Given the description of an element on the screen output the (x, y) to click on. 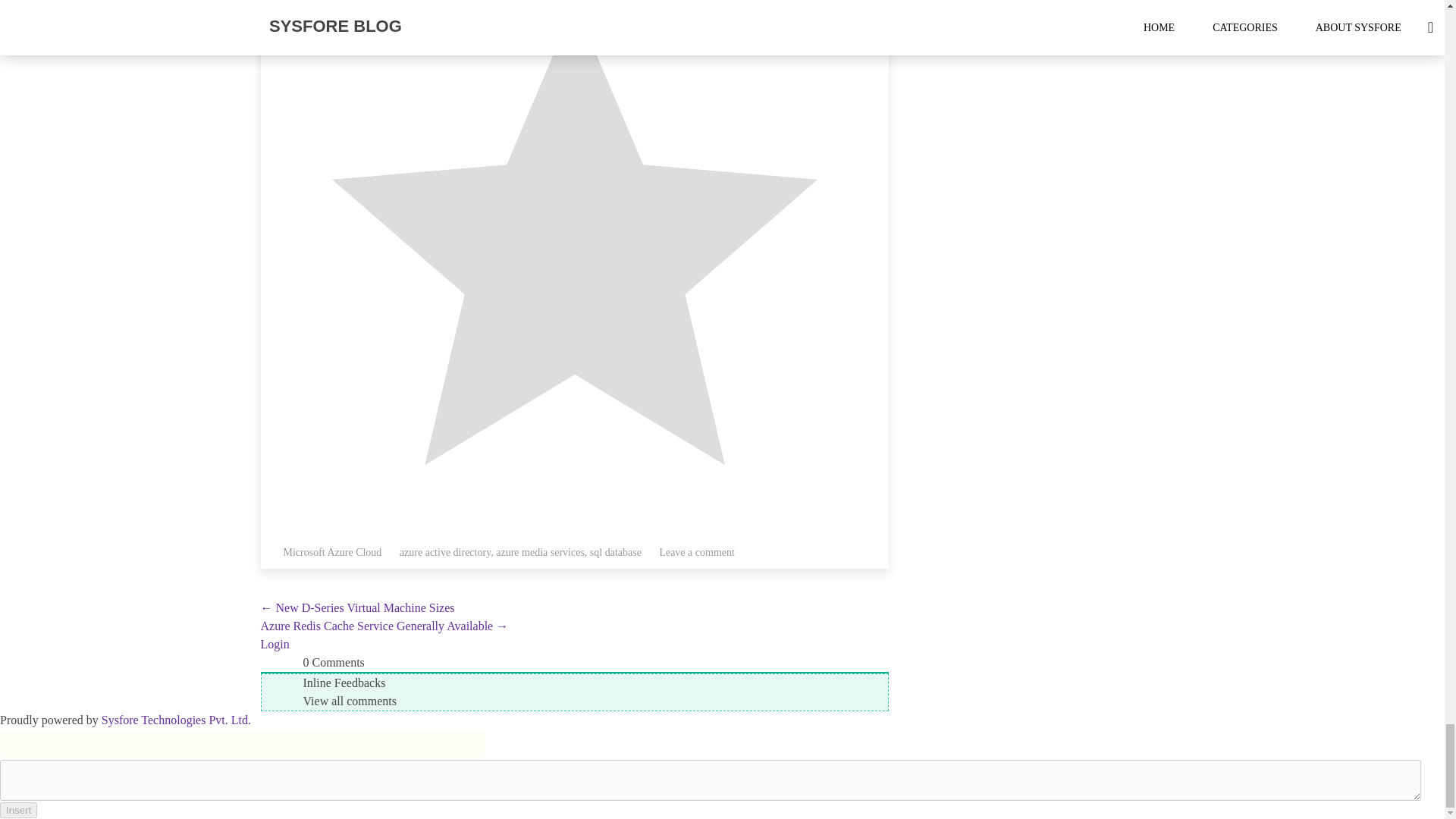
sql database (615, 552)
Leave a comment (697, 552)
azure active directory (444, 552)
Microsoft Azure Cloud (332, 552)
azure media services (540, 552)
Login (274, 644)
